Given the description of an element on the screen output the (x, y) to click on. 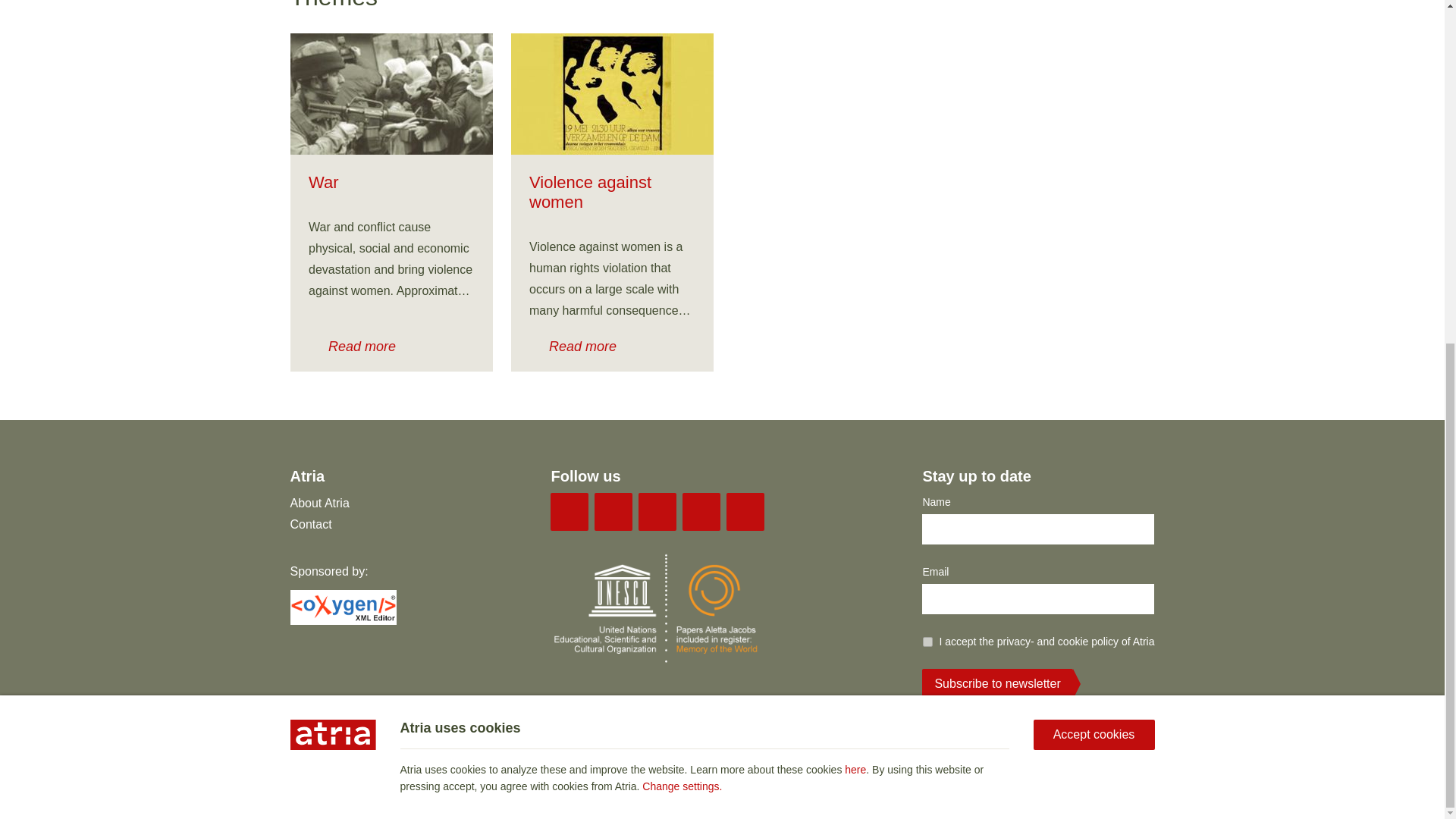
on (928, 642)
Oxygen XML Editor (342, 606)
Violence against women (612, 93)
Atria (321, 758)
War (390, 93)
Oxygen XML Editor (342, 619)
